Given the description of an element on the screen output the (x, y) to click on. 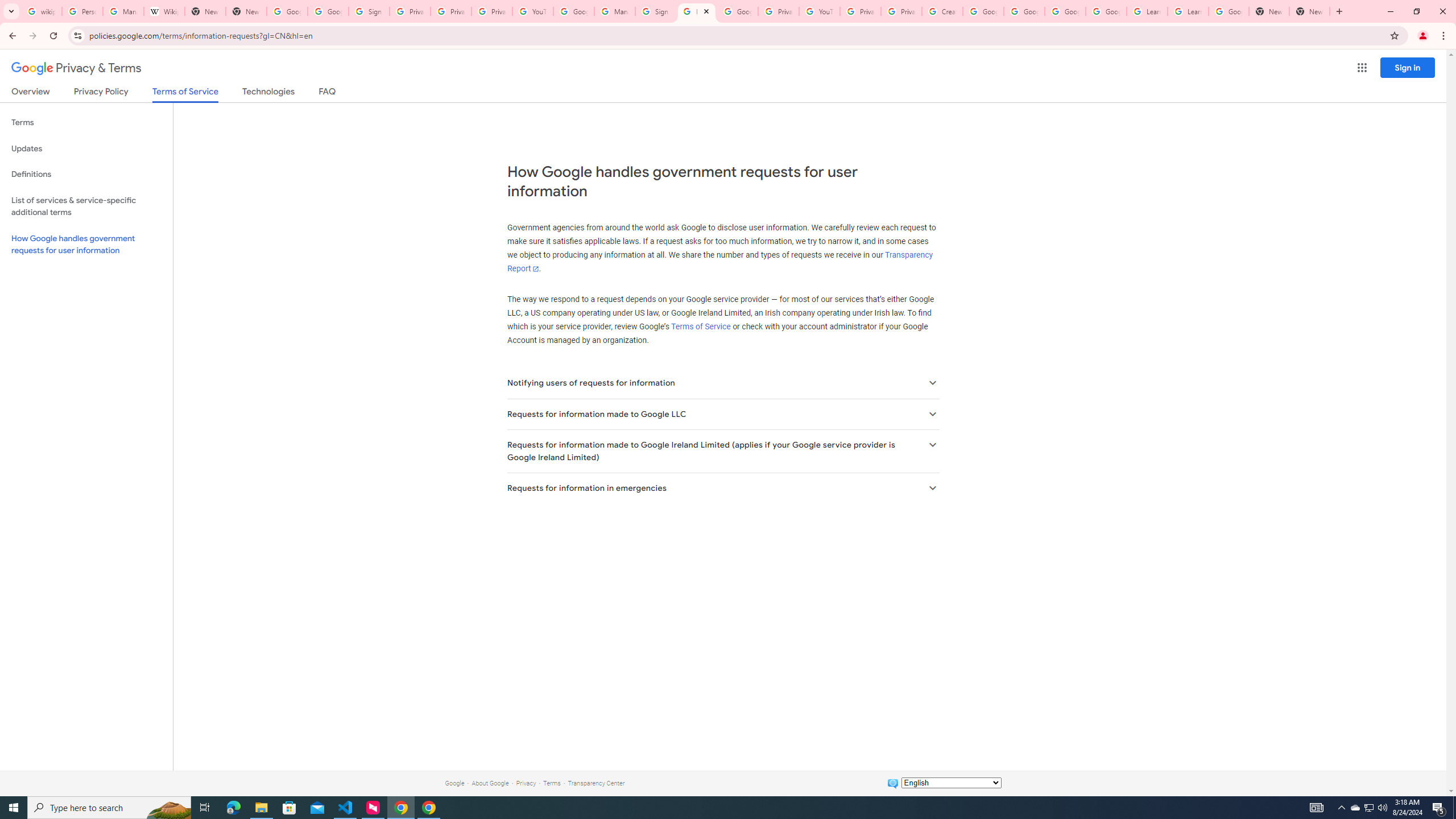
Google Account Help (983, 11)
Transparency Center (595, 783)
New Tab (1268, 11)
Google Account Help (1064, 11)
Change language: (951, 782)
Sign in - Google Accounts (655, 11)
